Given the description of an element on the screen output the (x, y) to click on. 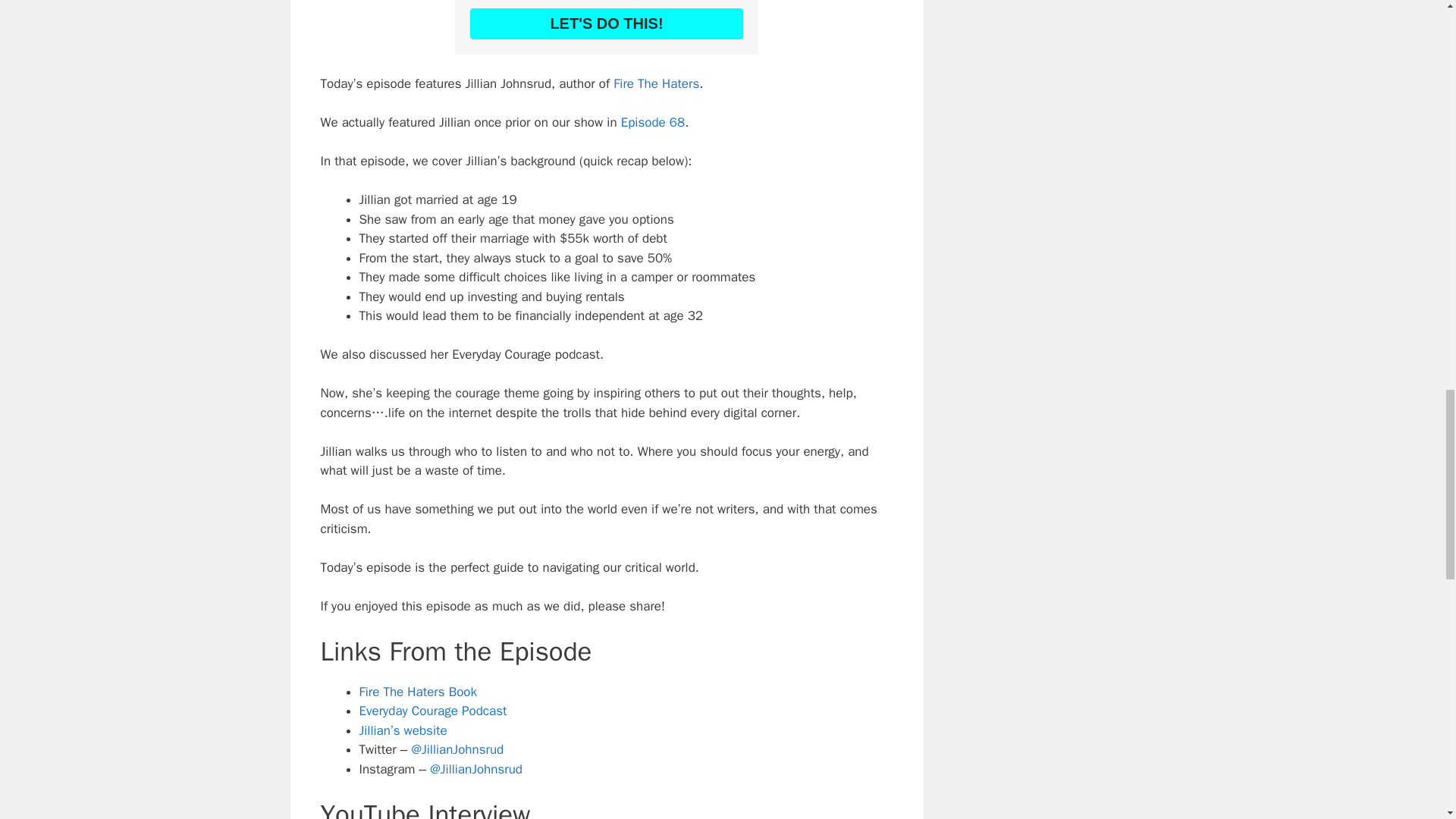
LET'S DO THIS! (606, 23)
Episode 68 (653, 122)
Fire The Haters Book (418, 691)
Everyday Courage Podcast (432, 710)
Fire The Haters (654, 83)
